Given the description of an element on the screen output the (x, y) to click on. 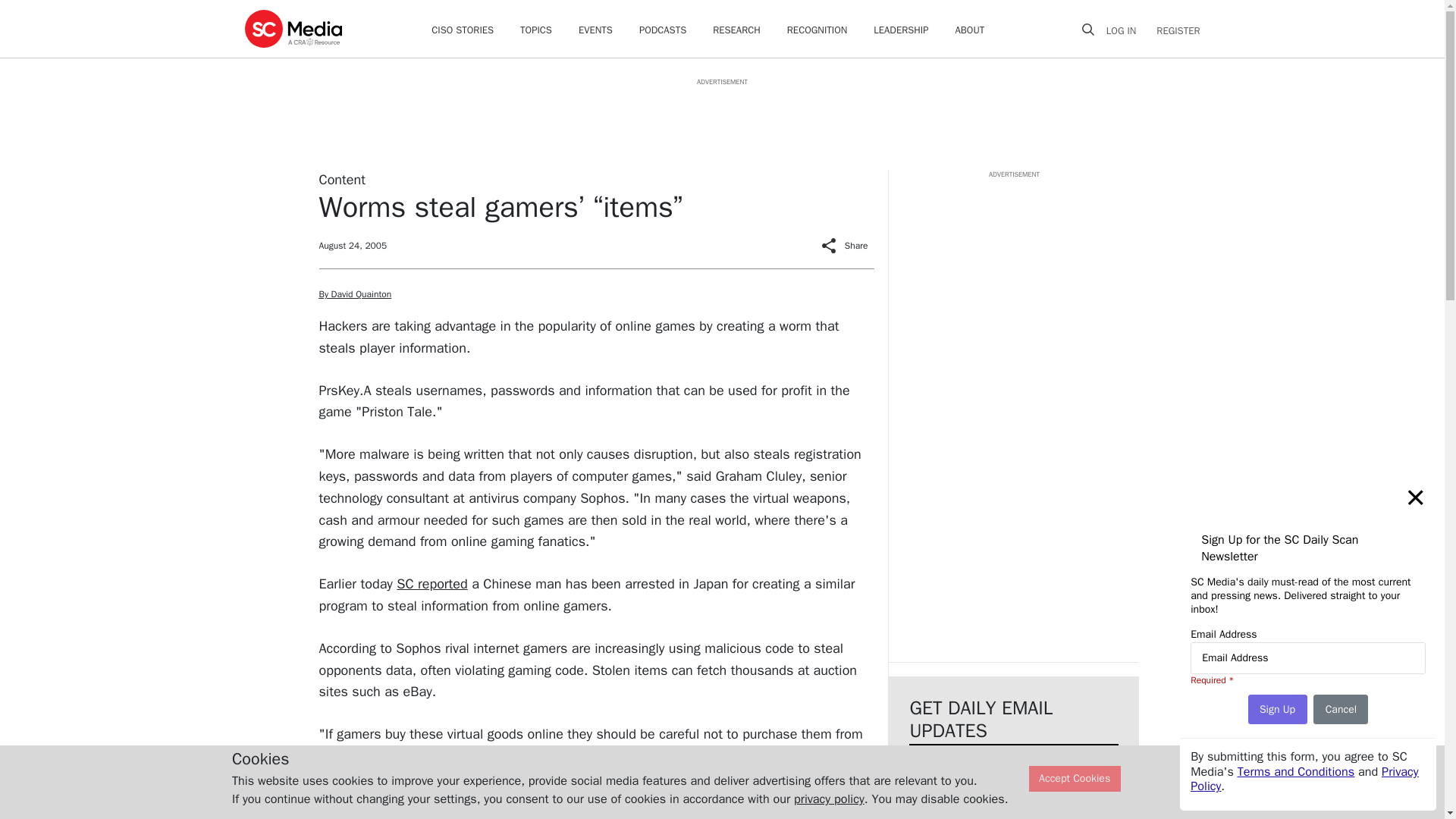
LOG IN (1126, 30)
CISO STORIES (461, 30)
SC reported (431, 583)
EVENTS (595, 30)
RESEARCH (736, 30)
RECOGNITION (817, 30)
LEADERSHIP (900, 30)
3rd party ad content (1012, 274)
TOPICS (535, 30)
Content (341, 179)
3rd party ad content (721, 121)
By David Quainton (354, 294)
SC Media (292, 27)
ABOUT (970, 30)
PODCASTS (662, 30)
